Given the description of an element on the screen output the (x, y) to click on. 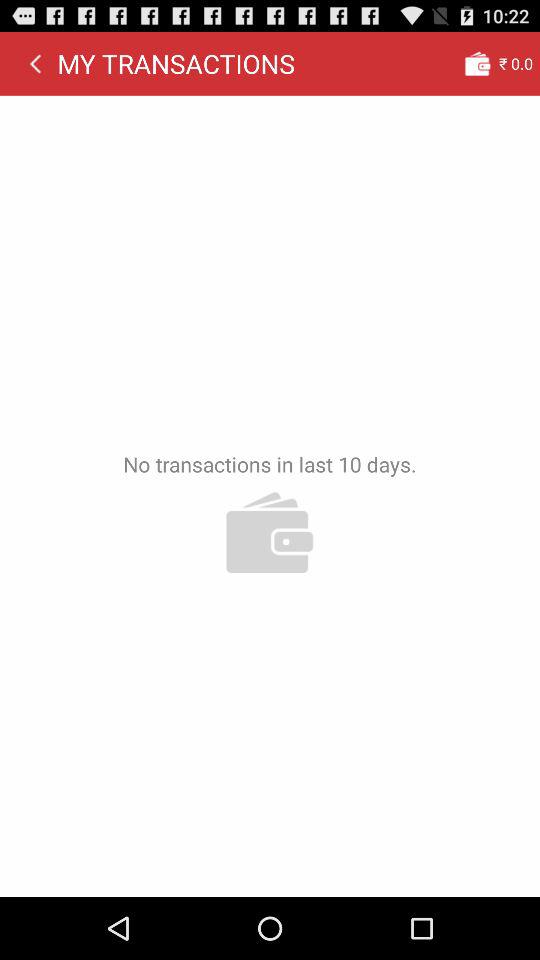
choose app to the right of my transactions (477, 63)
